Given the description of an element on the screen output the (x, y) to click on. 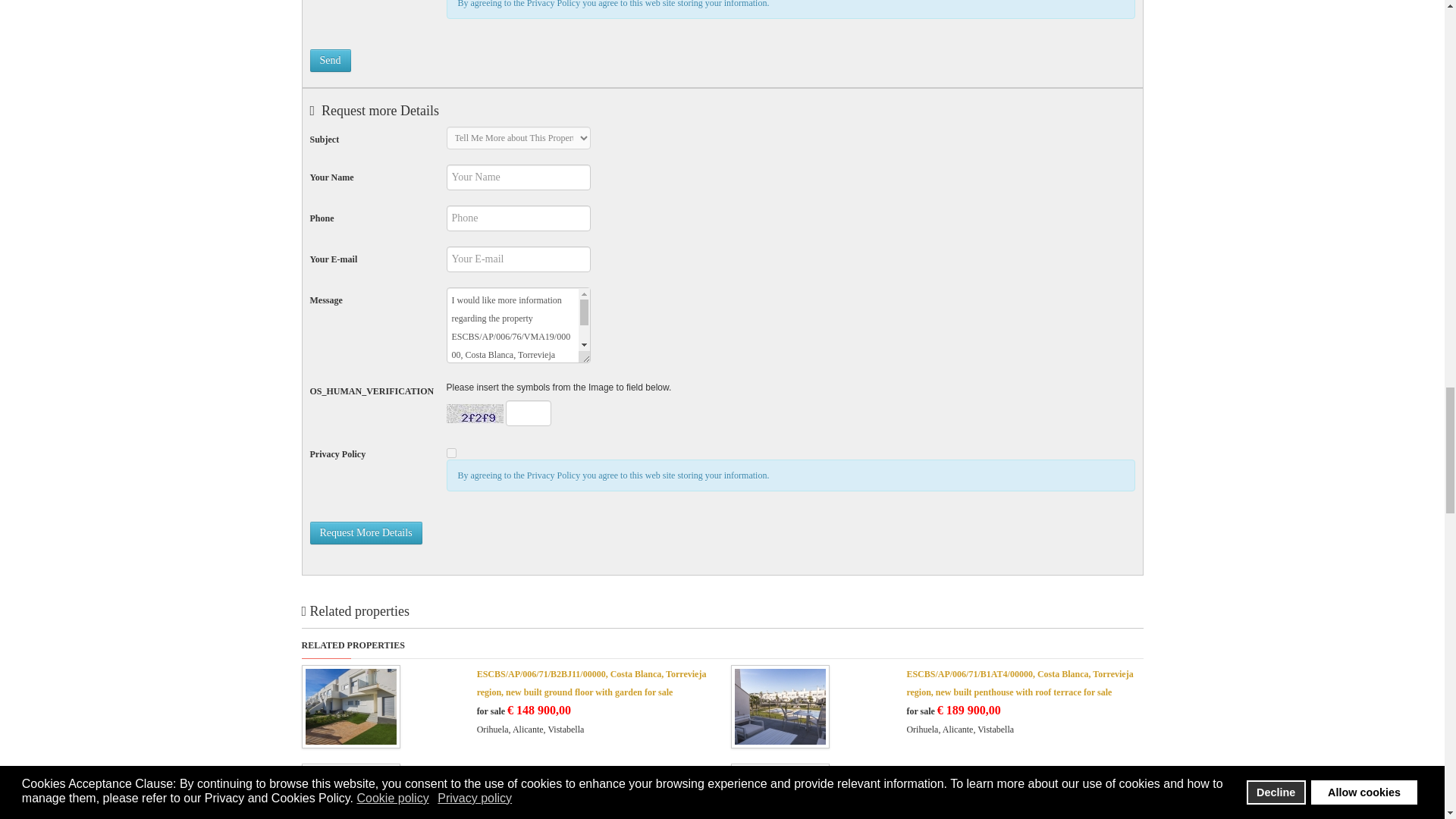
1 (450, 452)
Request More Details (365, 532)
Send (329, 60)
